Given the description of an element on the screen output the (x, y) to click on. 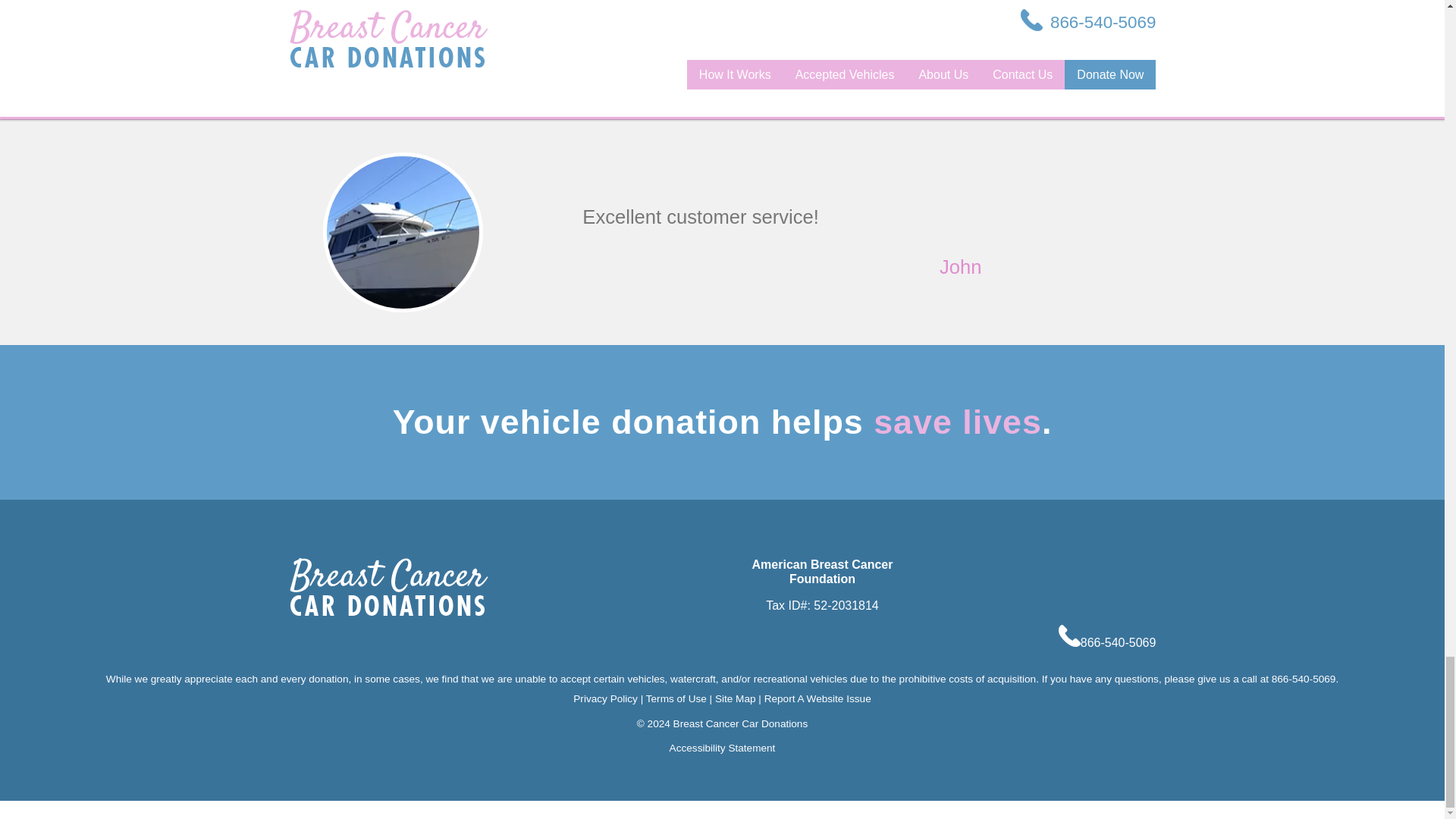
Customer reviews powered by Trustpilot (852, 9)
